Given the description of an element on the screen output the (x, y) to click on. 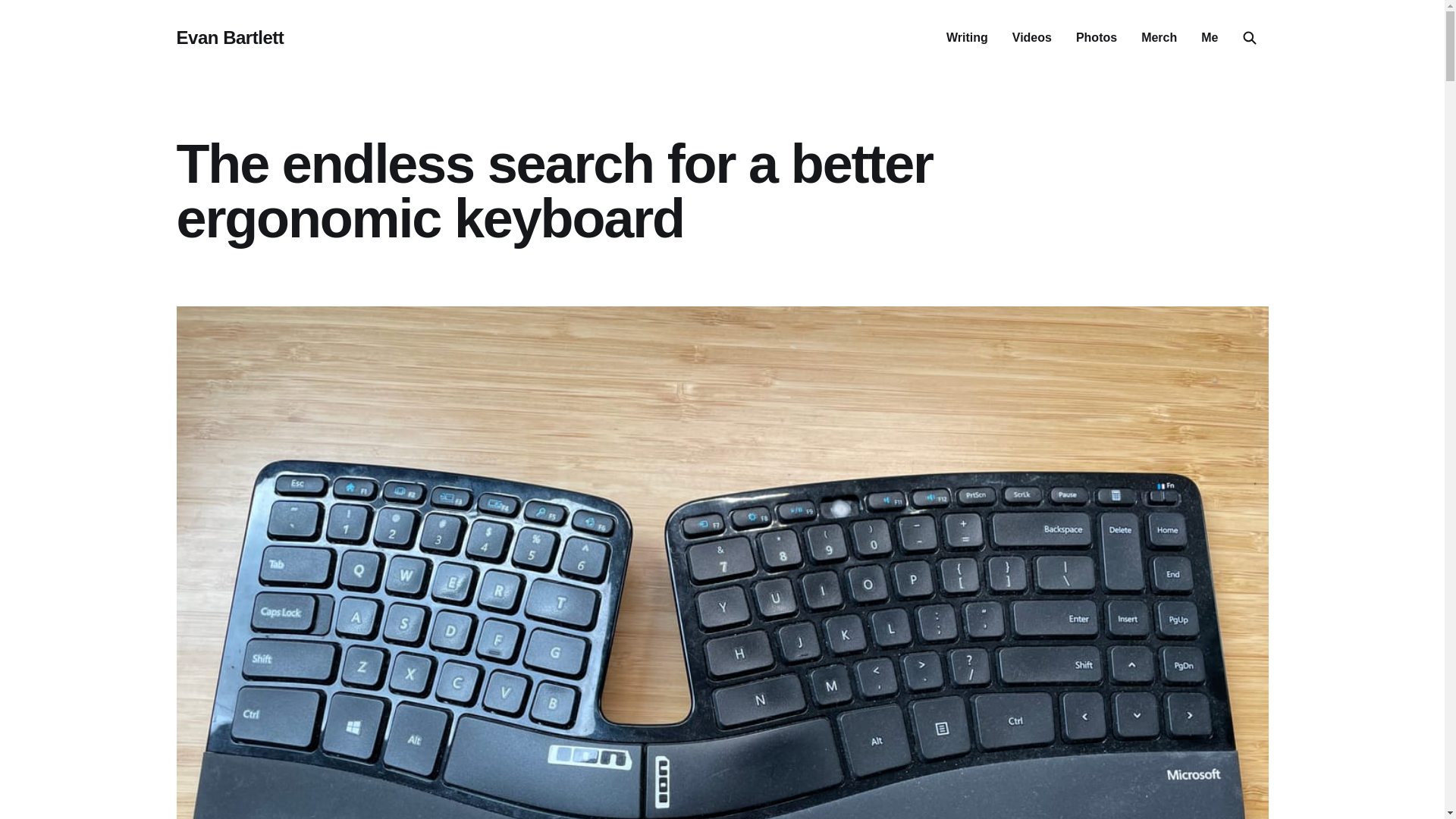
Videos (1031, 37)
Writing (967, 37)
Me (1209, 37)
Evan Bartlett (229, 37)
Photos (1095, 37)
Merch (1158, 37)
